Given the description of an element on the screen output the (x, y) to click on. 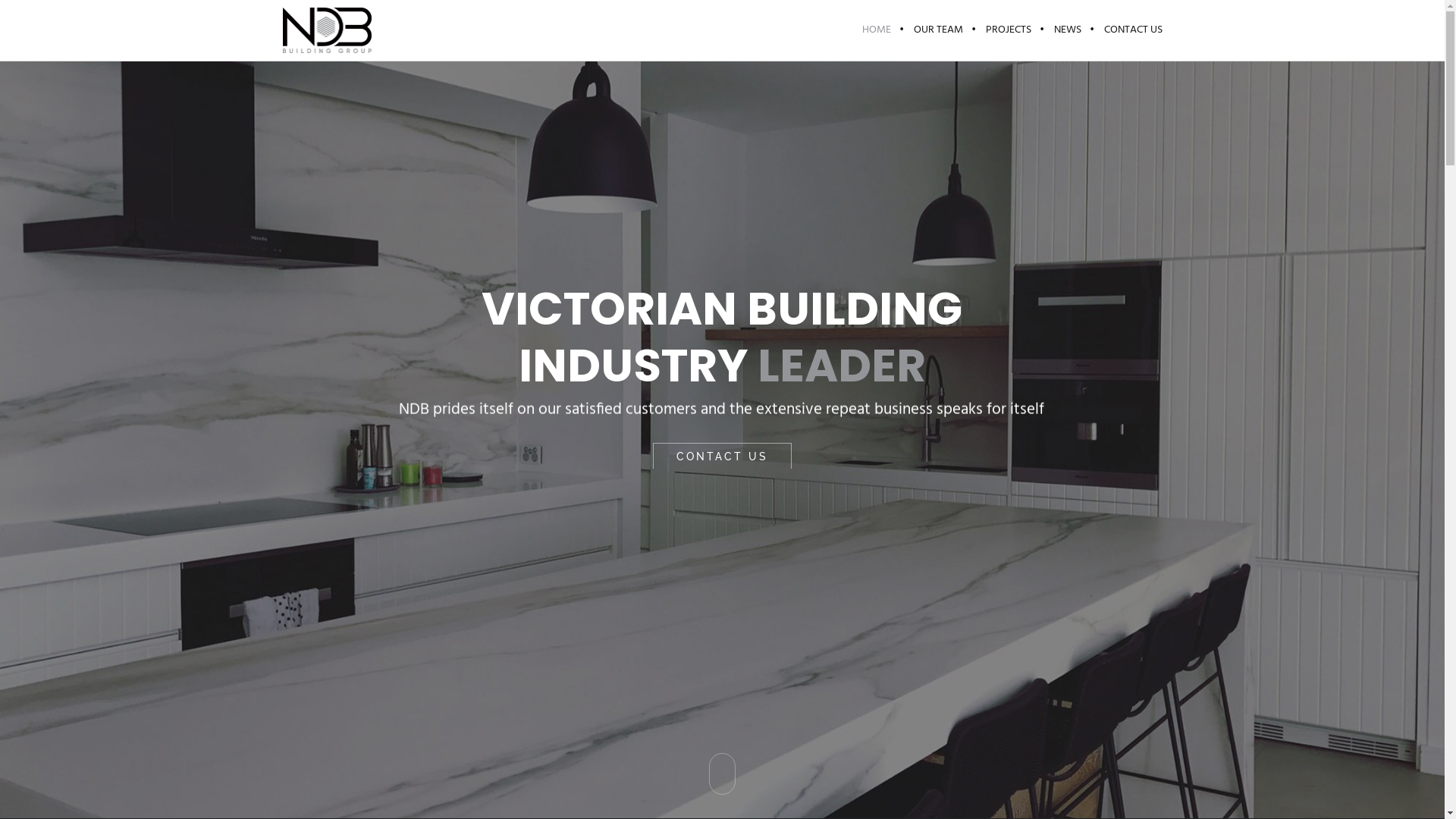
PROJECTS Element type: text (1007, 30)
CONTACT US Element type: text (1126, 30)
HOME Element type: text (876, 30)
NEWS Element type: text (1066, 30)
OUR TEAM Element type: text (938, 30)
